Given the description of an element on the screen output the (x, y) to click on. 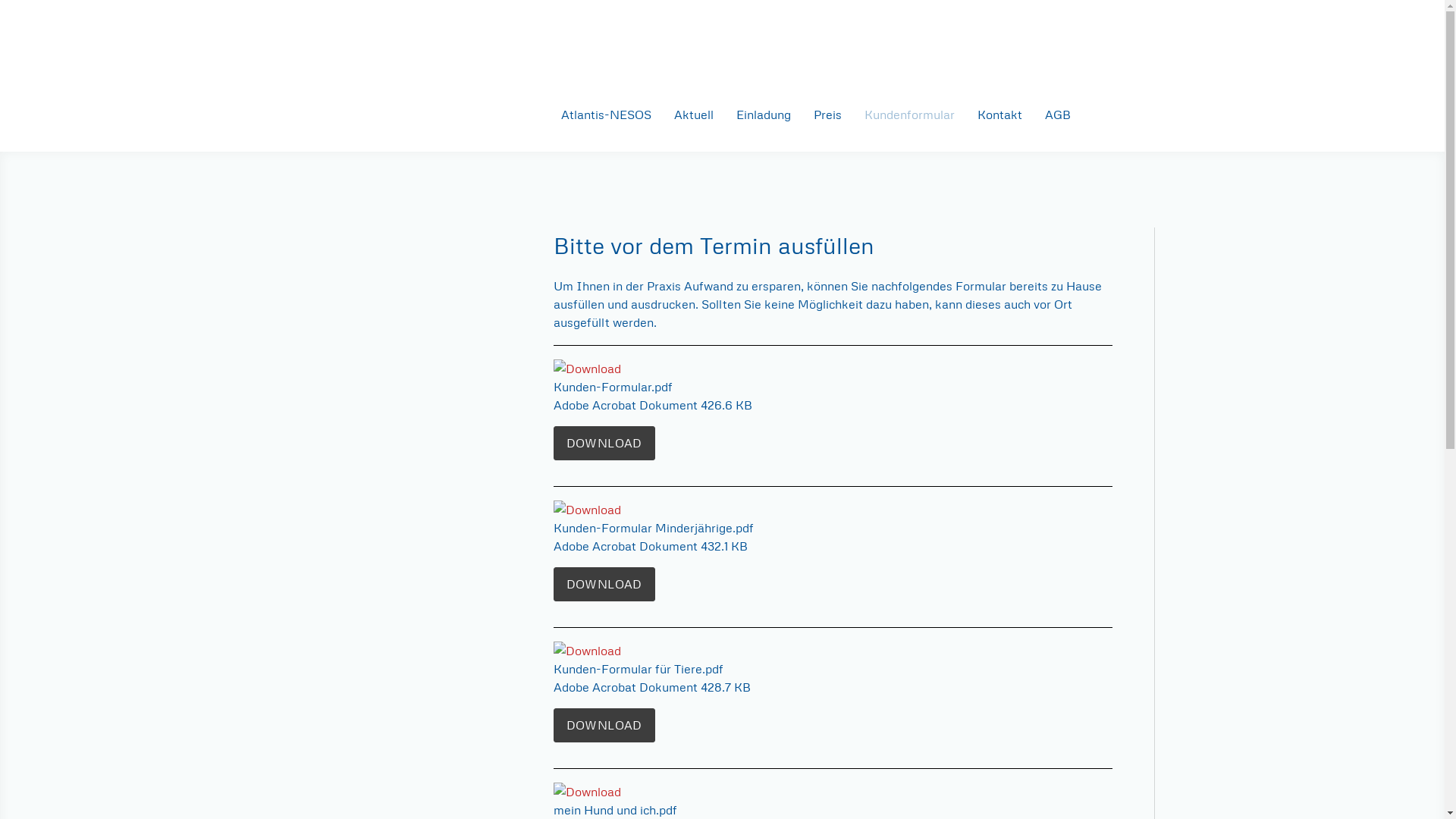
Aktuell Element type: text (693, 115)
AGB Element type: text (1056, 115)
DOWNLOAD Element type: text (604, 443)
DOWNLOAD Element type: text (604, 584)
Preis Element type: text (827, 115)
Kontakt Element type: text (999, 115)
Einladung Element type: text (763, 115)
Kundenformular Element type: text (908, 115)
DOWNLOAD Element type: text (604, 725)
Atlantis-NESOS Element type: text (605, 115)
